Given the description of an element on the screen output the (x, y) to click on. 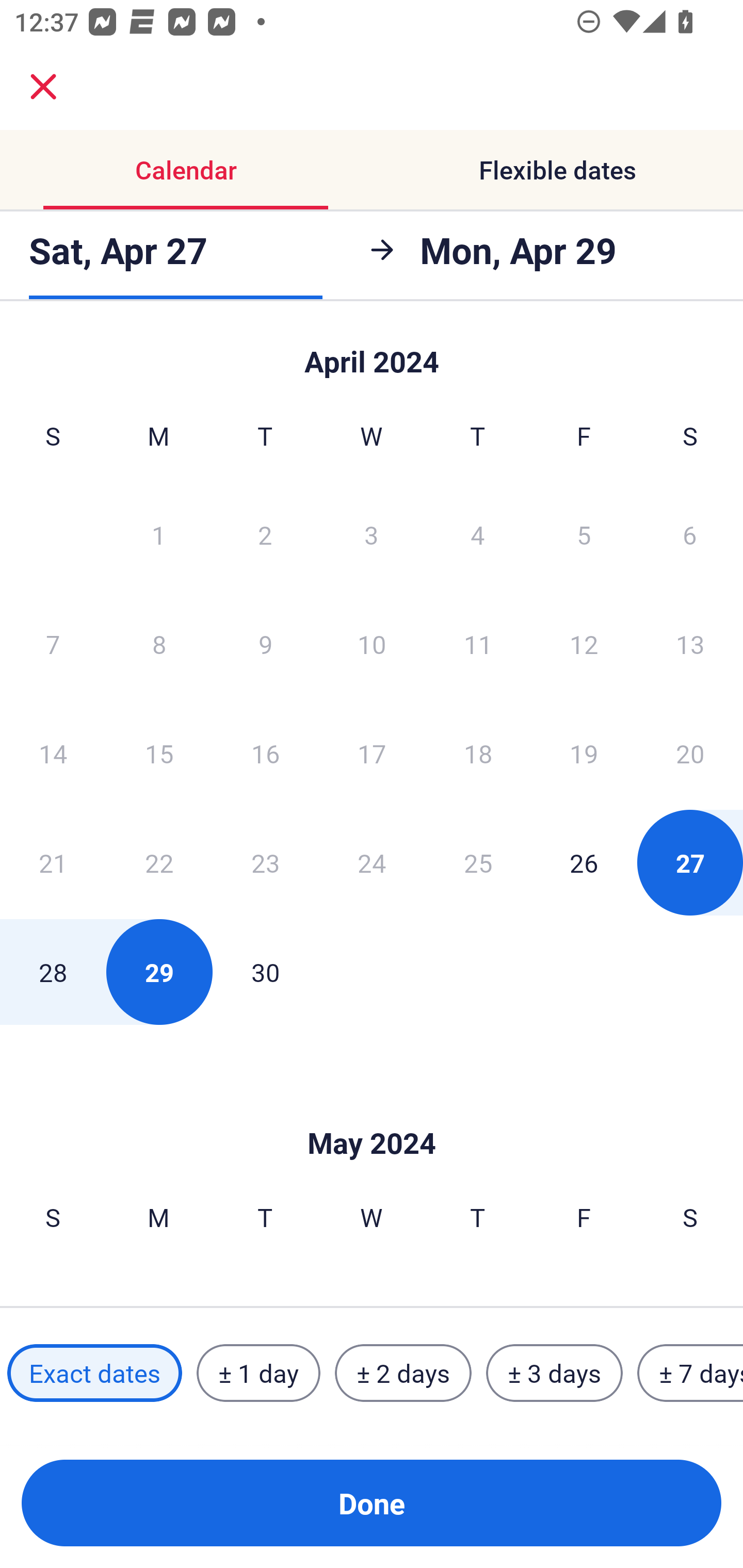
close. (43, 86)
Flexible dates (557, 170)
Skip to Done (371, 352)
1 Monday, April 1, 2024 (158, 534)
2 Tuesday, April 2, 2024 (264, 534)
3 Wednesday, April 3, 2024 (371, 534)
4 Thursday, April 4, 2024 (477, 534)
5 Friday, April 5, 2024 (583, 534)
6 Saturday, April 6, 2024 (689, 534)
7 Sunday, April 7, 2024 (53, 643)
8 Monday, April 8, 2024 (159, 643)
9 Tuesday, April 9, 2024 (265, 643)
10 Wednesday, April 10, 2024 (371, 643)
11 Thursday, April 11, 2024 (477, 643)
12 Friday, April 12, 2024 (584, 643)
13 Saturday, April 13, 2024 (690, 643)
14 Sunday, April 14, 2024 (53, 752)
15 Monday, April 15, 2024 (159, 752)
16 Tuesday, April 16, 2024 (265, 752)
17 Wednesday, April 17, 2024 (371, 752)
18 Thursday, April 18, 2024 (477, 752)
19 Friday, April 19, 2024 (584, 752)
20 Saturday, April 20, 2024 (690, 752)
21 Sunday, April 21, 2024 (53, 862)
22 Monday, April 22, 2024 (159, 862)
23 Tuesday, April 23, 2024 (265, 862)
24 Wednesday, April 24, 2024 (371, 862)
25 Thursday, April 25, 2024 (477, 862)
26 Friday, April 26, 2024 (584, 862)
30 Tuesday, April 30, 2024 (265, 971)
Skip to Done (371, 1112)
Exact dates (94, 1372)
± 1 day (258, 1372)
± 2 days (403, 1372)
± 3 days (553, 1372)
± 7 days (690, 1372)
Done (371, 1502)
